Given the description of an element on the screen output the (x, y) to click on. 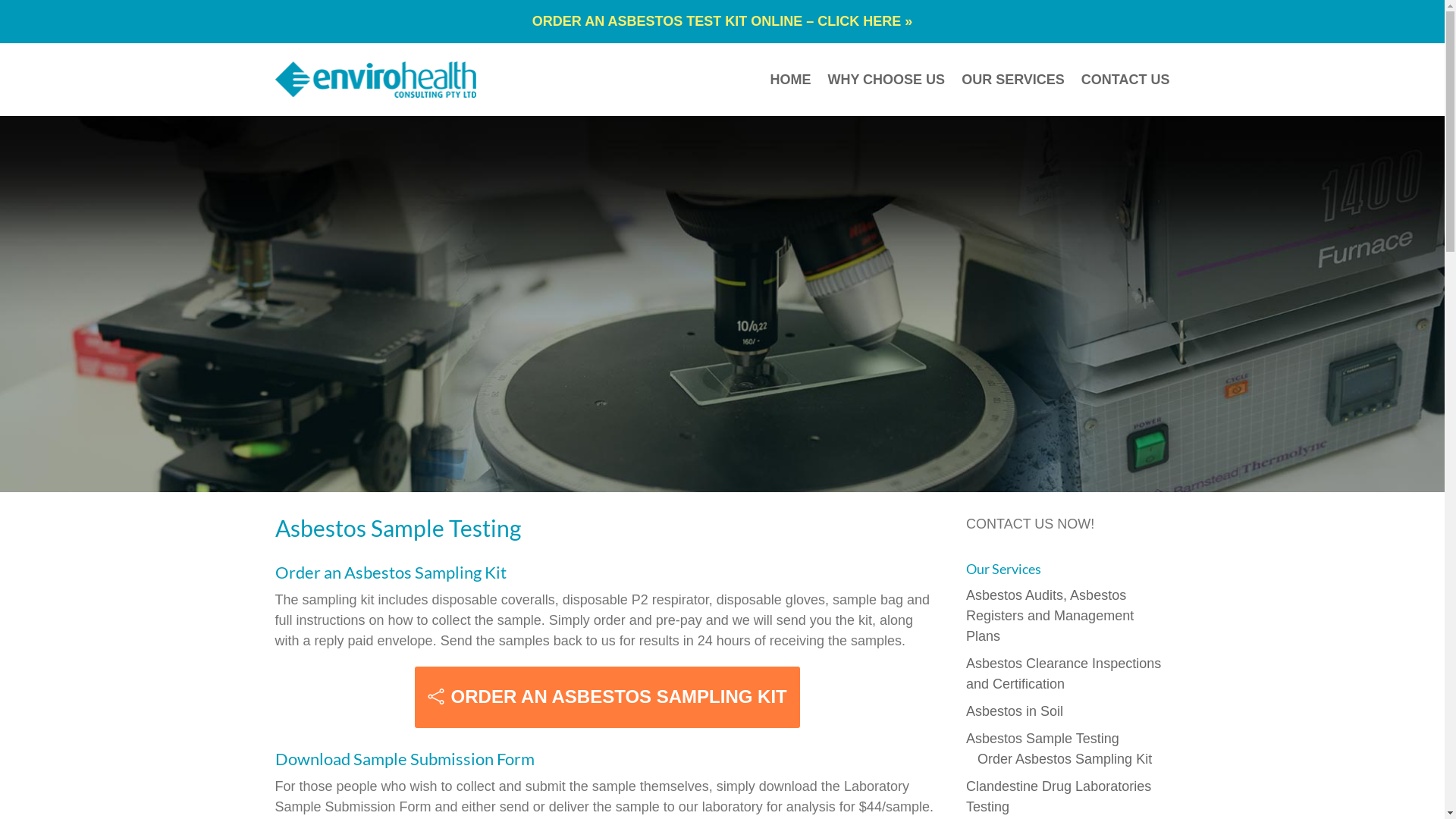
Clandestine Drug Laboratories Testing Element type: text (1058, 796)
CONTACT US NOW! Element type: text (1030, 523)
Asbestos Audits, Asbestos Registers and Management Plans Element type: text (1049, 615)
HOME Element type: text (789, 79)
Asbestos Clearance Inspections and Certification Element type: text (1063, 673)
WHY CHOOSE US Element type: text (885, 79)
CONTACT US Element type: text (1125, 79)
Asbestos in Soil Element type: text (1014, 710)
OUR SERVICES Element type: text (1012, 79)
Order Asbestos Sampling Kit Element type: text (1064, 758)
ORDER AN ASBESTOS SAMPLING KIT Element type: text (607, 697)
Asbestos Sample Testing Element type: text (1042, 738)
